Given the description of an element on the screen output the (x, y) to click on. 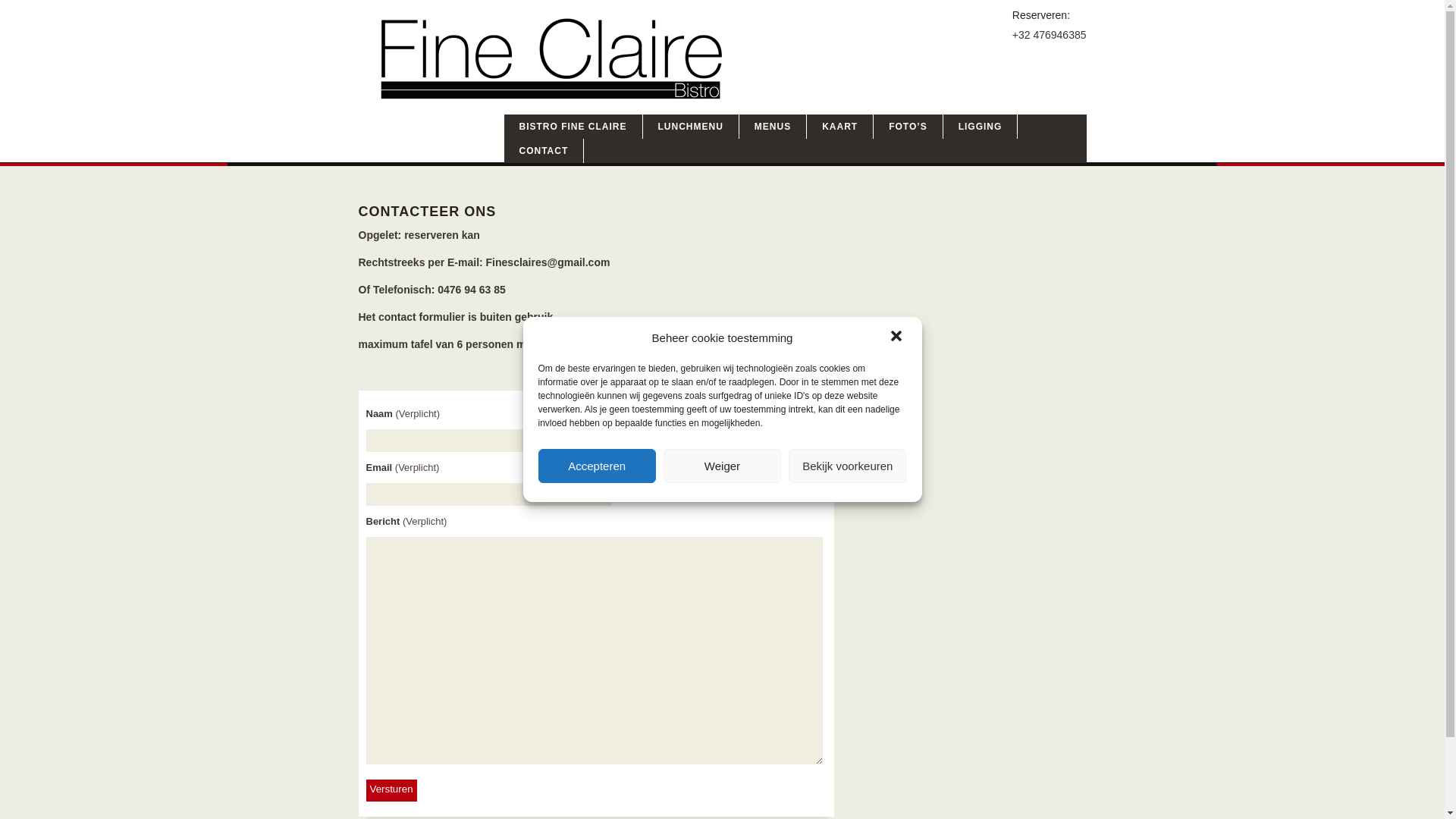
KAART Element type: text (839, 126)
LIGGING Element type: text (980, 126)
CONTACT Element type: text (543, 150)
Versturen Element type: text (390, 790)
Bekijk voorkeuren Element type: text (847, 465)
MENUS Element type: text (772, 126)
BISTRO FINE CLAIRE Element type: text (572, 126)
Weiger Element type: text (722, 465)
Accepteren Element type: text (596, 465)
LUNCHMENU Element type: text (691, 126)
